Given the description of an element on the screen output the (x, y) to click on. 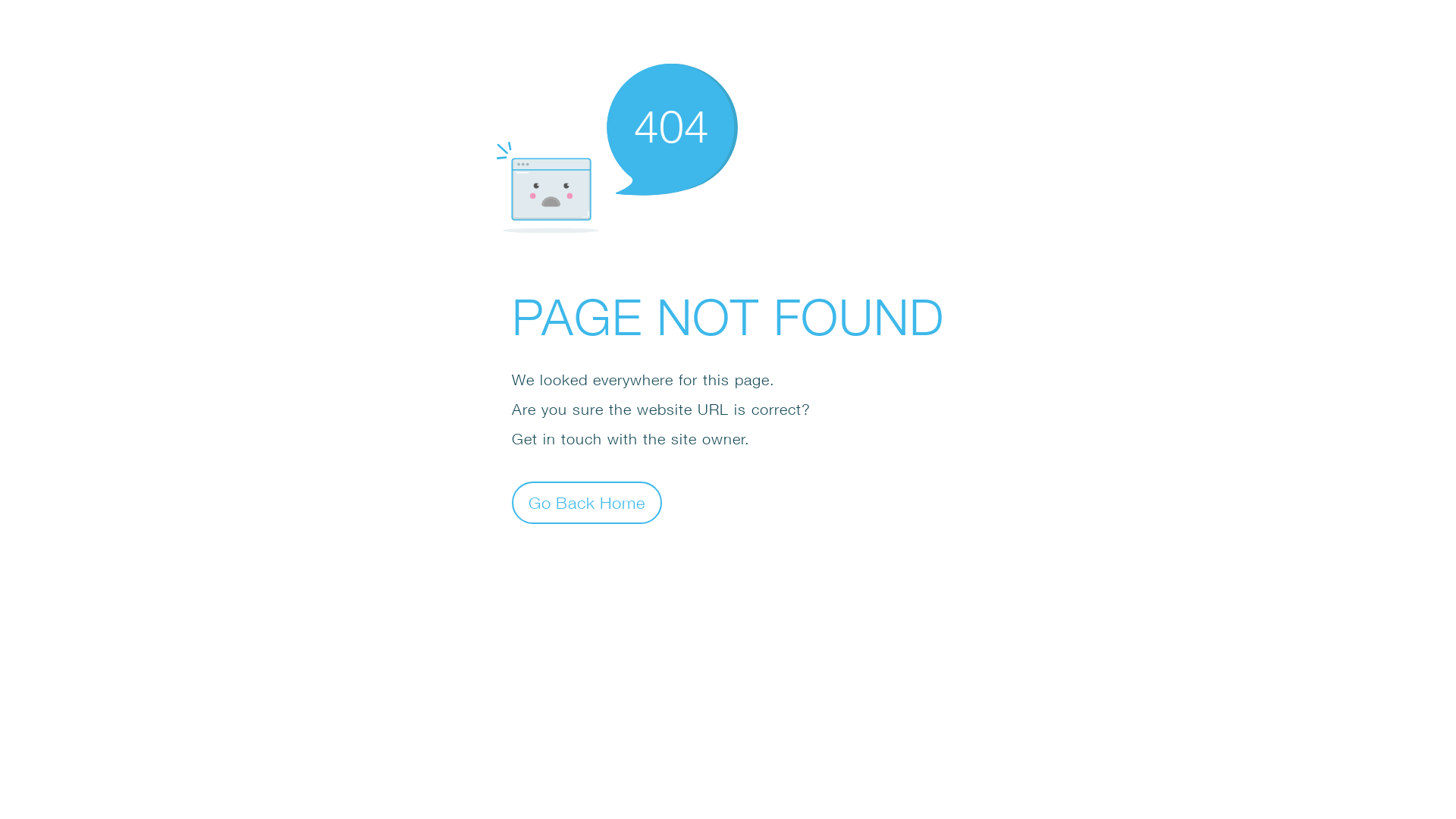
Go Back Home Element type: text (586, 502)
